Given the description of an element on the screen output the (x, y) to click on. 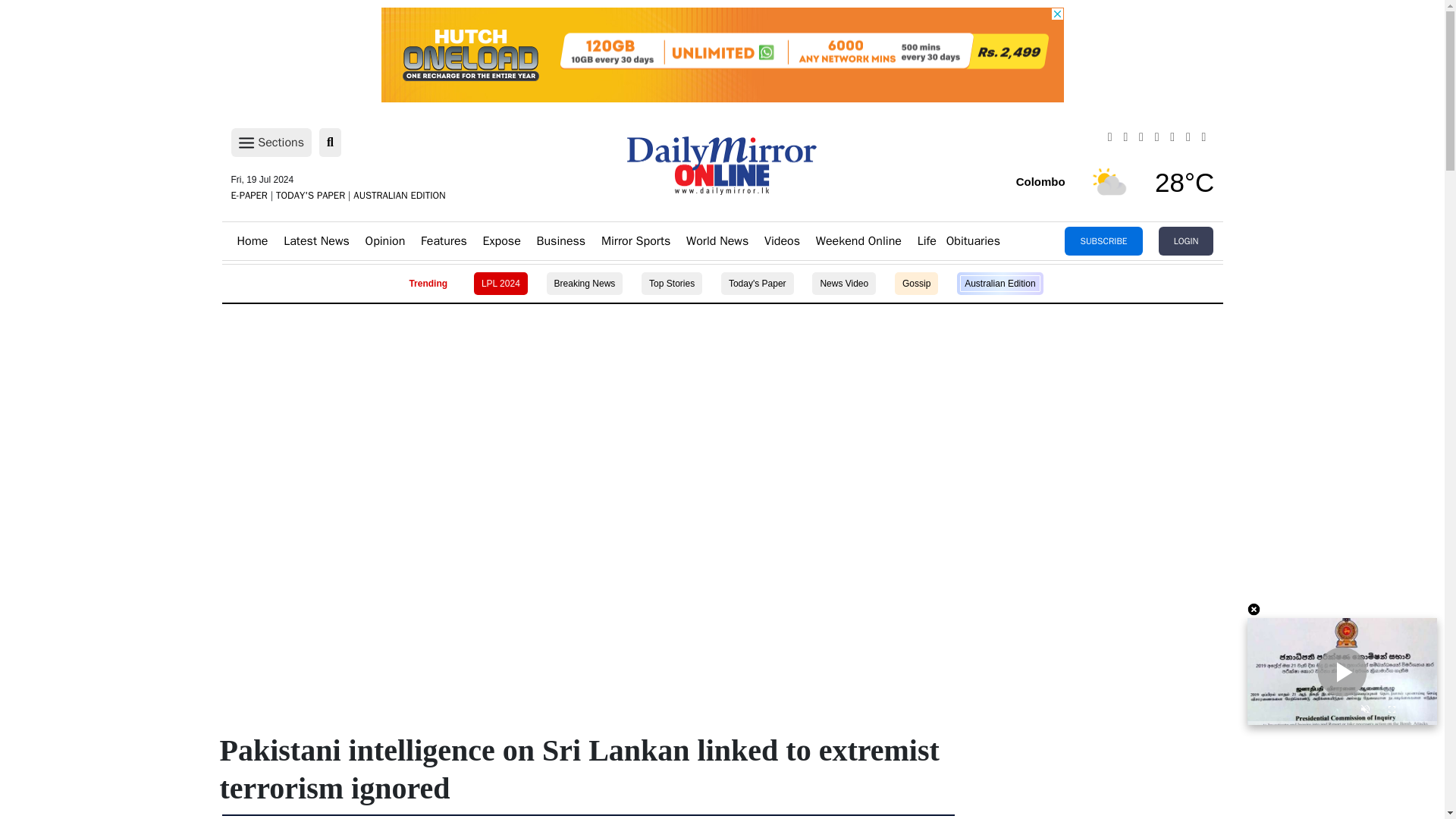
3rd party ad content (721, 54)
Play (1342, 671)
Unmute (1364, 711)
3rd party ad content (721, 358)
3rd party ad content (721, 461)
3rd party ad content (721, 562)
